Given the description of an element on the screen output the (x, y) to click on. 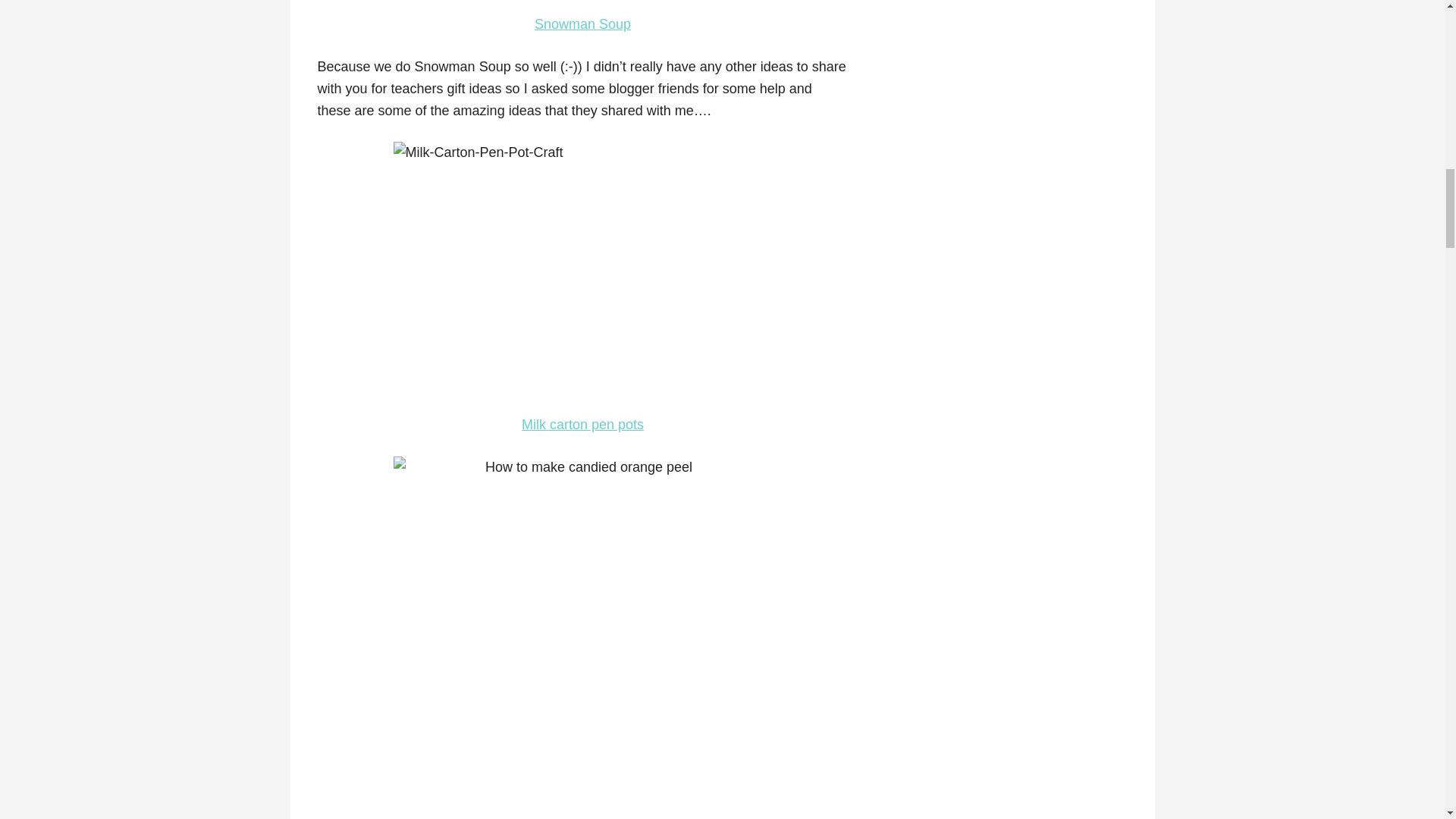
Milk carton pen pots (582, 424)
Snowman Soup (582, 23)
